Given the description of an element on the screen output the (x, y) to click on. 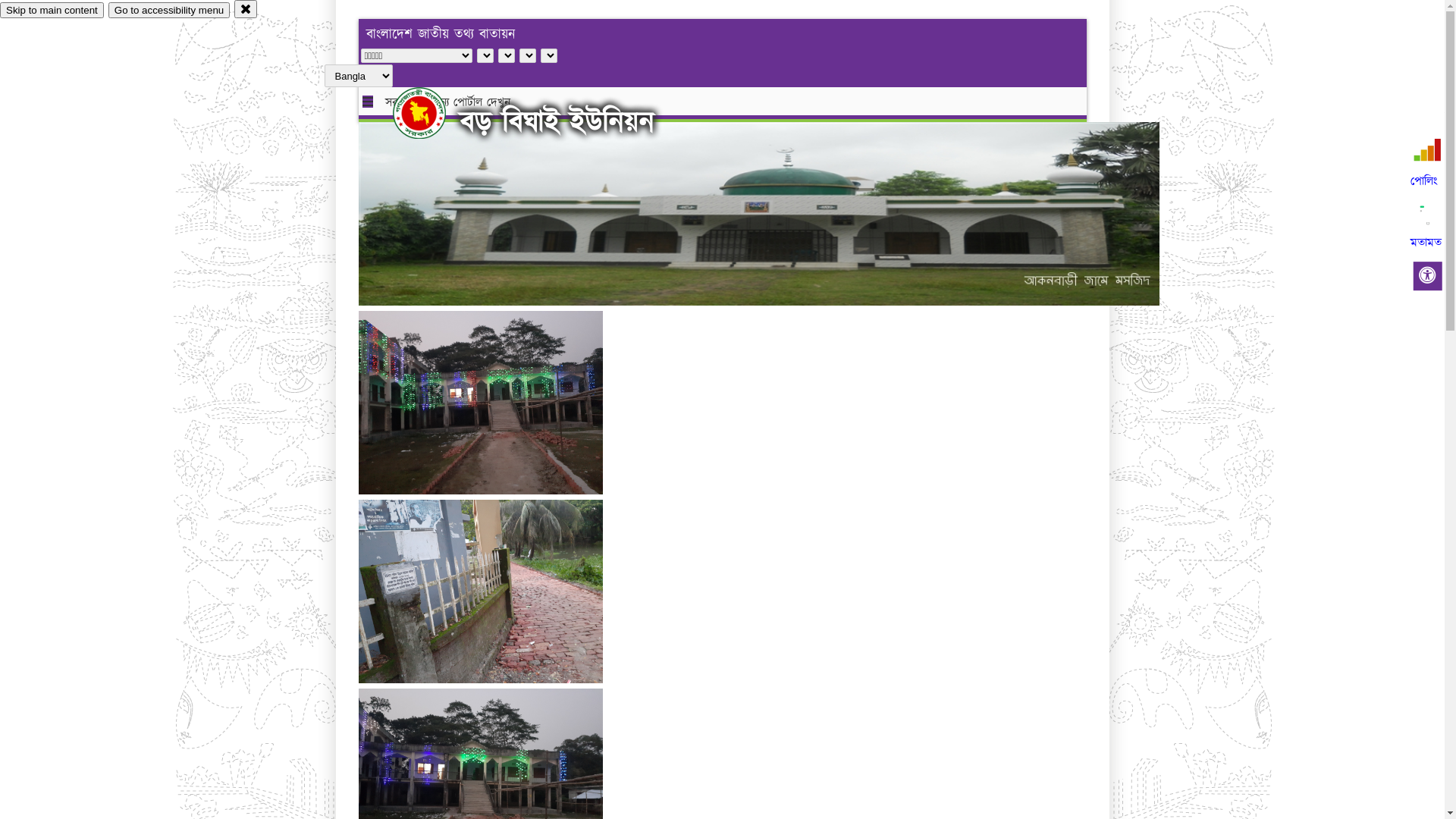
close Element type: hover (245, 9)
Go to accessibility menu Element type: text (168, 10)
Skip to main content Element type: text (51, 10)

                
             Element type: hover (431, 112)
